Given the description of an element on the screen output the (x, y) to click on. 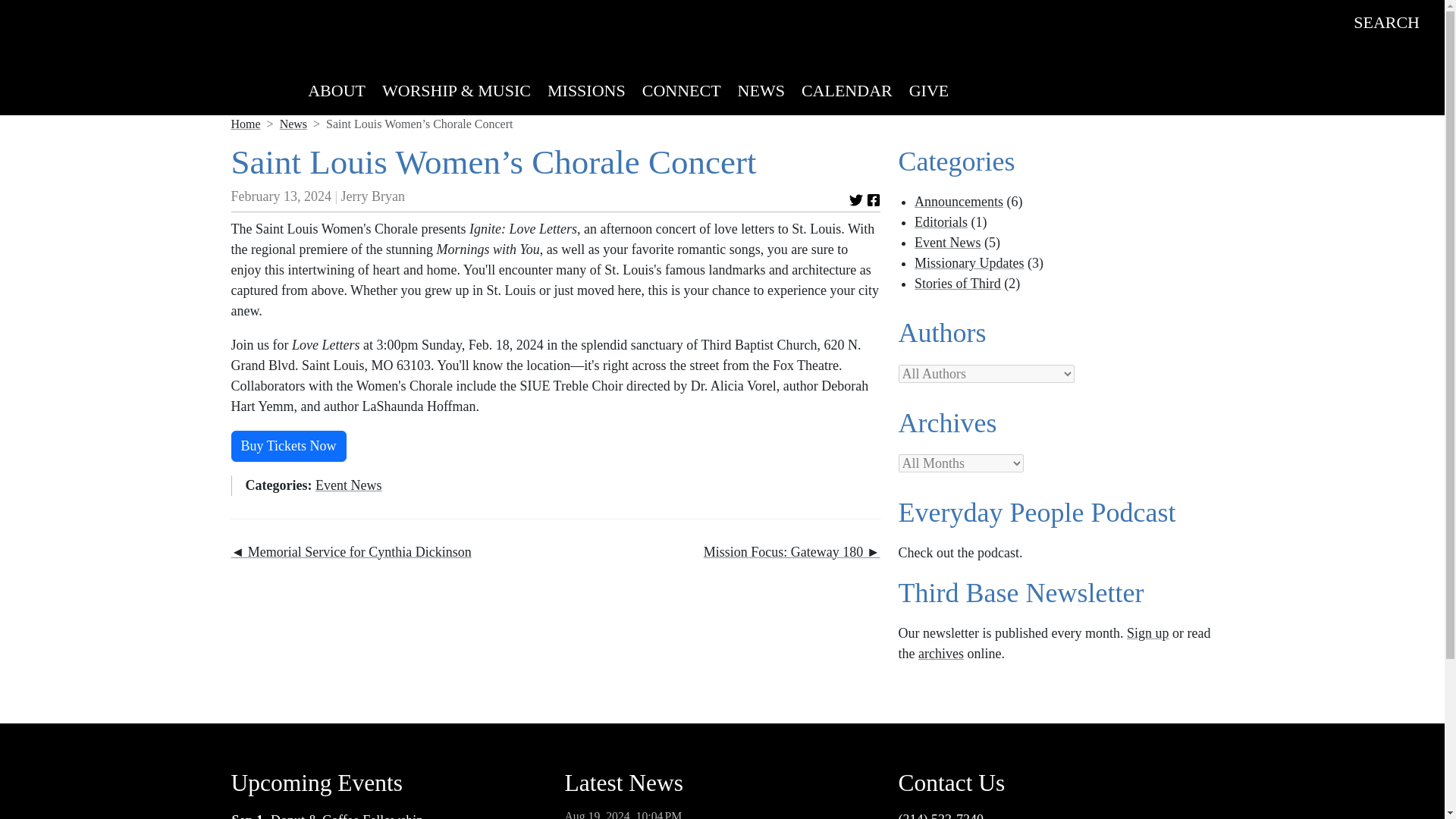
archives (940, 653)
Sign up (1147, 632)
Event News (348, 485)
CONNECT (681, 90)
Share on Facebook (873, 200)
Missionary Updates (968, 263)
SEARCH (1386, 22)
Stories of Third (957, 283)
Editorials (941, 222)
Share on Twitter (855, 200)
